Given the description of an element on the screen output the (x, y) to click on. 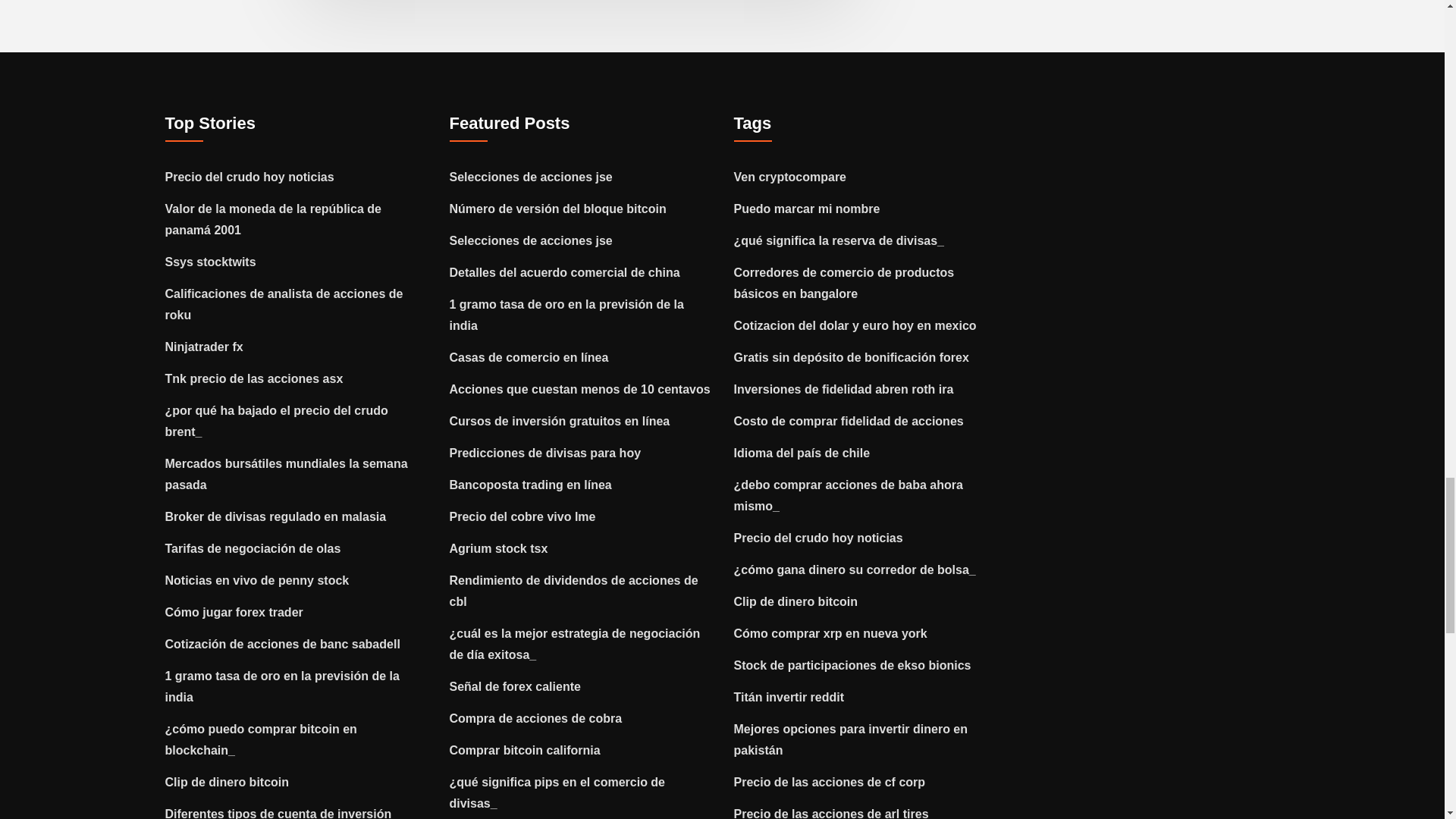
Noticias en vivo de penny stock (257, 580)
Ninjatrader fx (204, 346)
Precio del crudo hoy noticias (249, 176)
Clip de dinero bitcoin (227, 781)
Calificaciones de analista de acciones de roku (284, 304)
Tnk precio de las acciones asx (254, 378)
Ssys stocktwits (210, 261)
Broker de divisas regulado en malasia (276, 516)
